Given the description of an element on the screen output the (x, y) to click on. 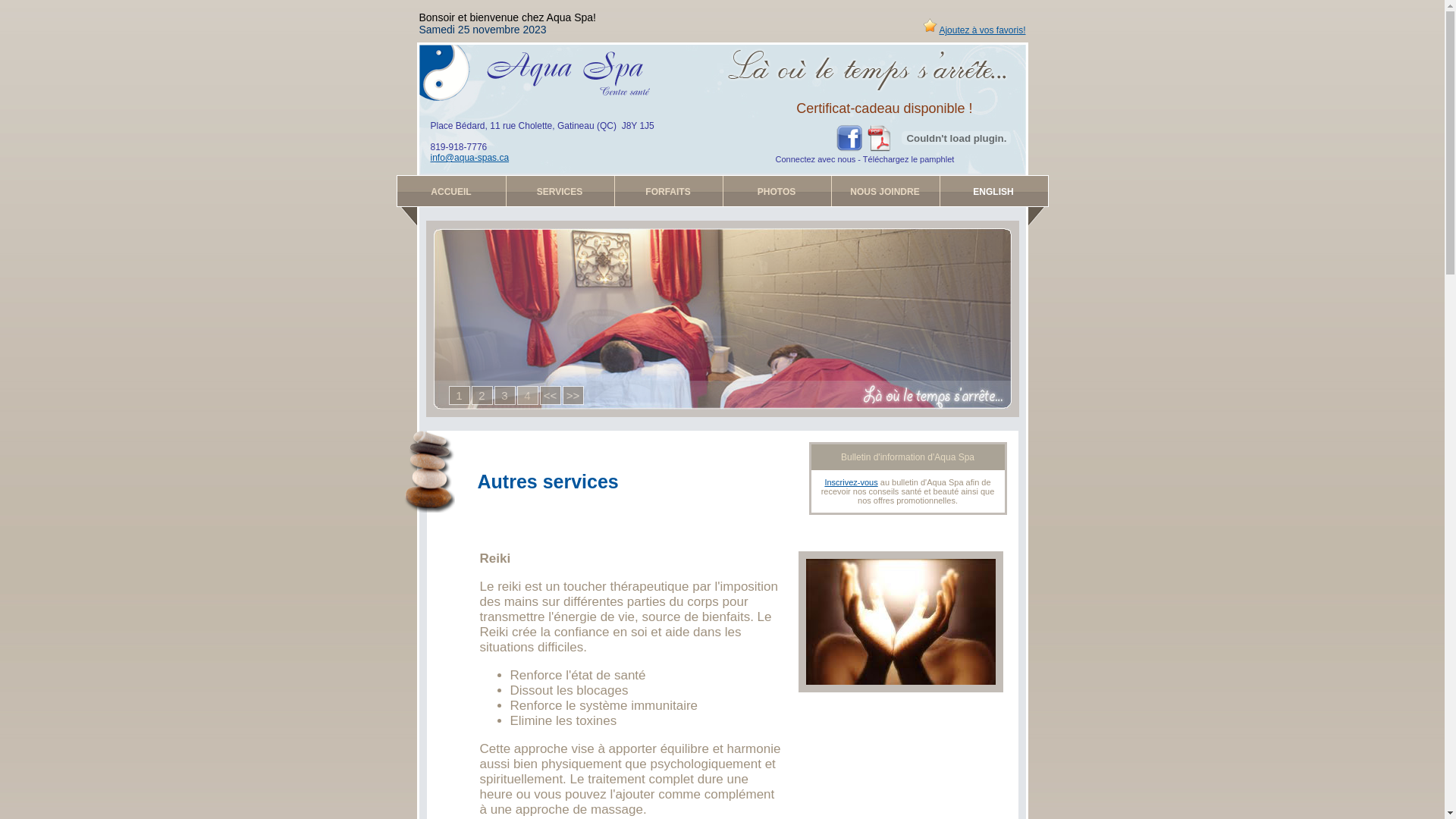
4 Element type: text (527, 394)
>> Element type: text (572, 394)
Inscrivez-vous Element type: text (850, 481)
ACCUEIL Element type: text (451, 190)
SERVICES Element type: text (559, 190)
<< Element type: text (550, 394)
2 Element type: text (481, 394)
info@aqua-spas.ca Element type: text (469, 157)
NOUS JOINDRE Element type: text (885, 190)
3 Element type: text (504, 394)
1 Element type: text (459, 394)
ENGLISH Element type: text (992, 190)
PHOTOS Element type: text (776, 190)
Connectez avec nous sur Facebook! Element type: hover (848, 147)
FORFAITS Element type: text (668, 190)
